Given the description of an element on the screen output the (x, y) to click on. 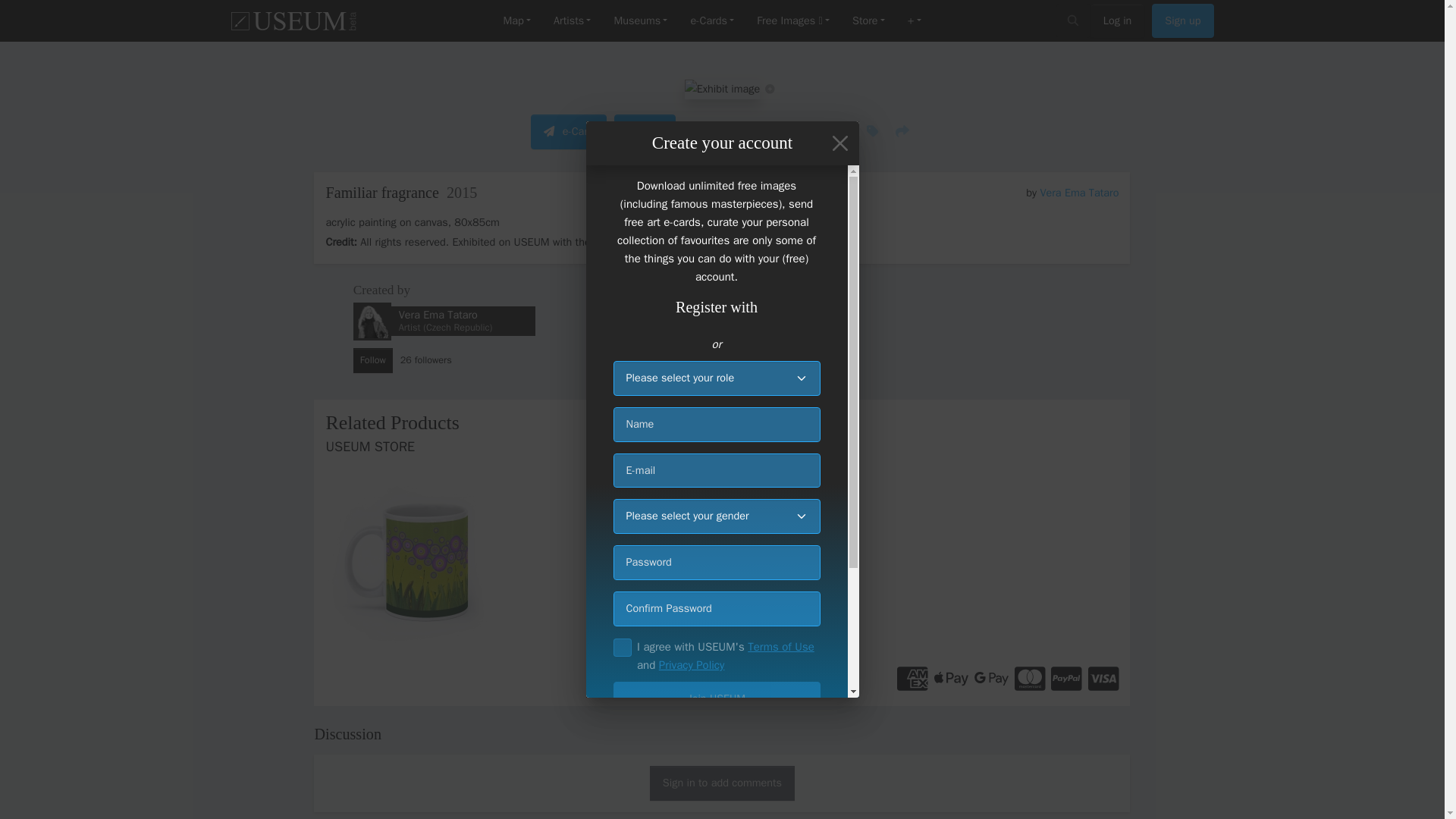
on (621, 647)
Map (516, 20)
Products for Familiar fragrance from USEUM (721, 480)
Products for Familiar fragrance from USEUM (451, 561)
